Given the description of an element on the screen output the (x, y) to click on. 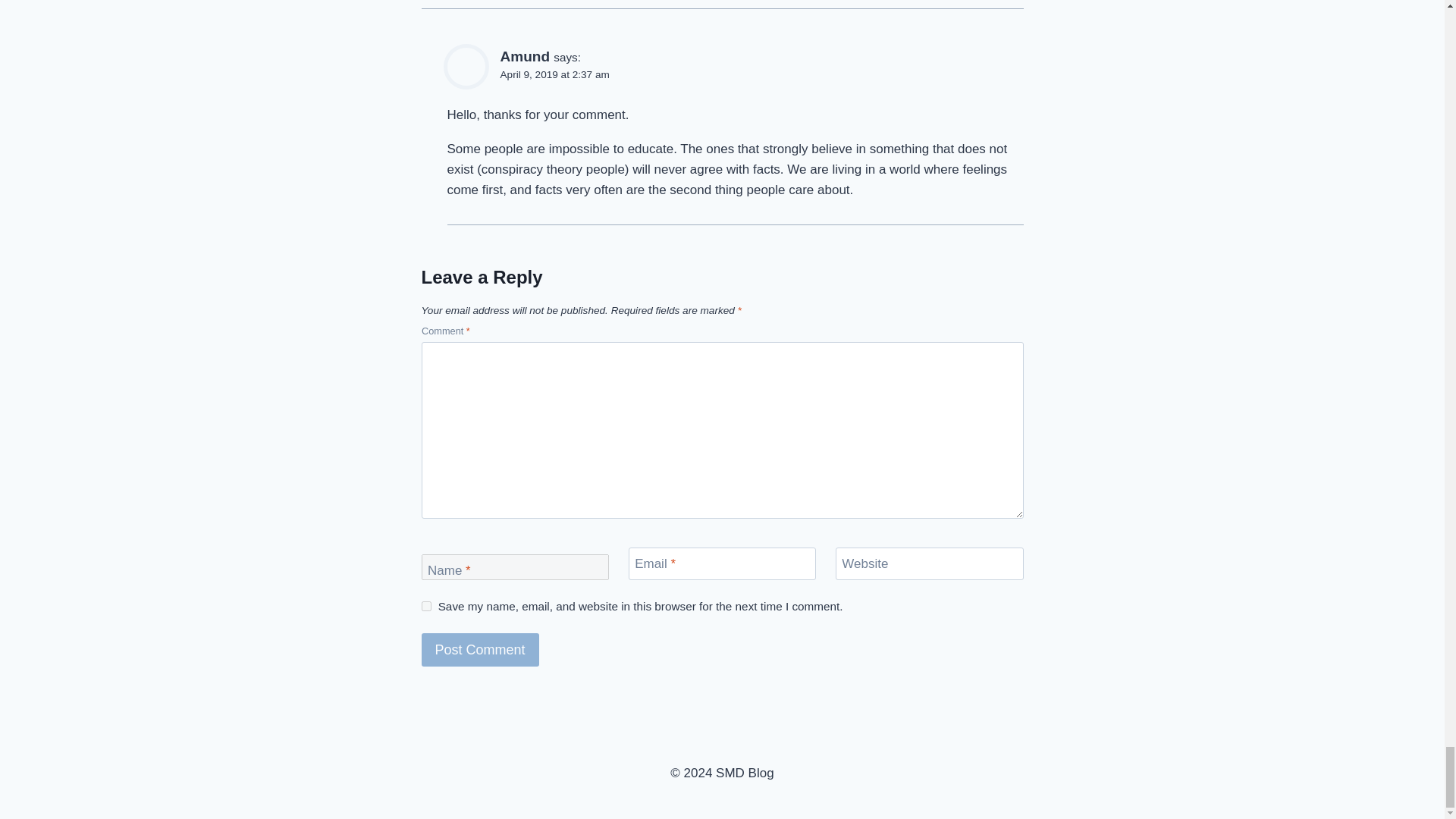
yes (426, 605)
Post Comment (480, 649)
